Given the description of an element on the screen output the (x, y) to click on. 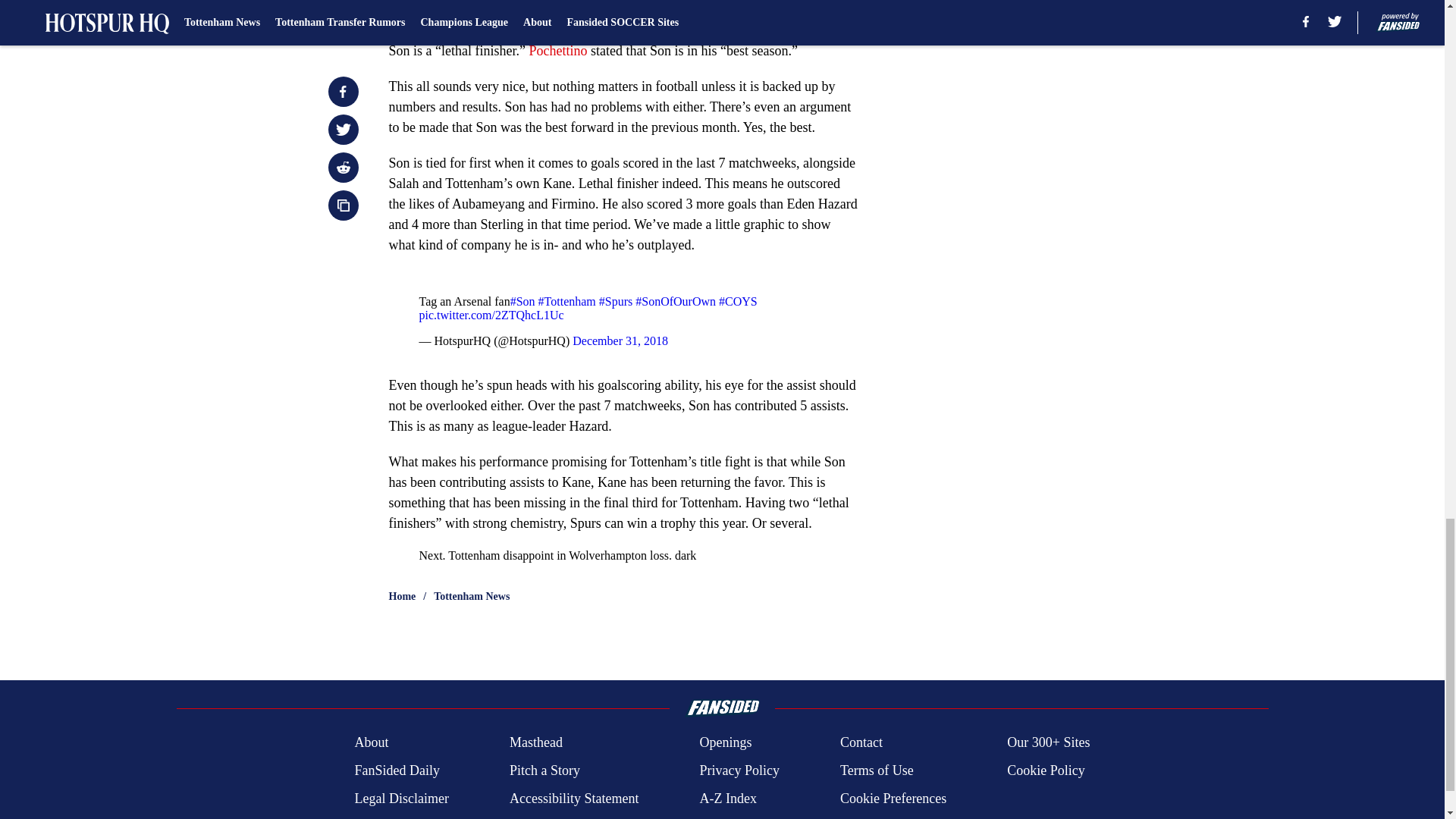
Privacy Policy (738, 770)
Accessibility Statement (574, 798)
Terms of Use (877, 770)
Openings (724, 742)
Home (401, 596)
Cookie Policy (1045, 770)
December 31, 2018 (620, 340)
Martin Keown (758, 29)
Masthead (535, 742)
FanSided Daily (396, 770)
About (370, 742)
Pitch a Story (544, 770)
Legal Disclaimer (400, 798)
Contact (861, 742)
Tottenham News (471, 596)
